Given the description of an element on the screen output the (x, y) to click on. 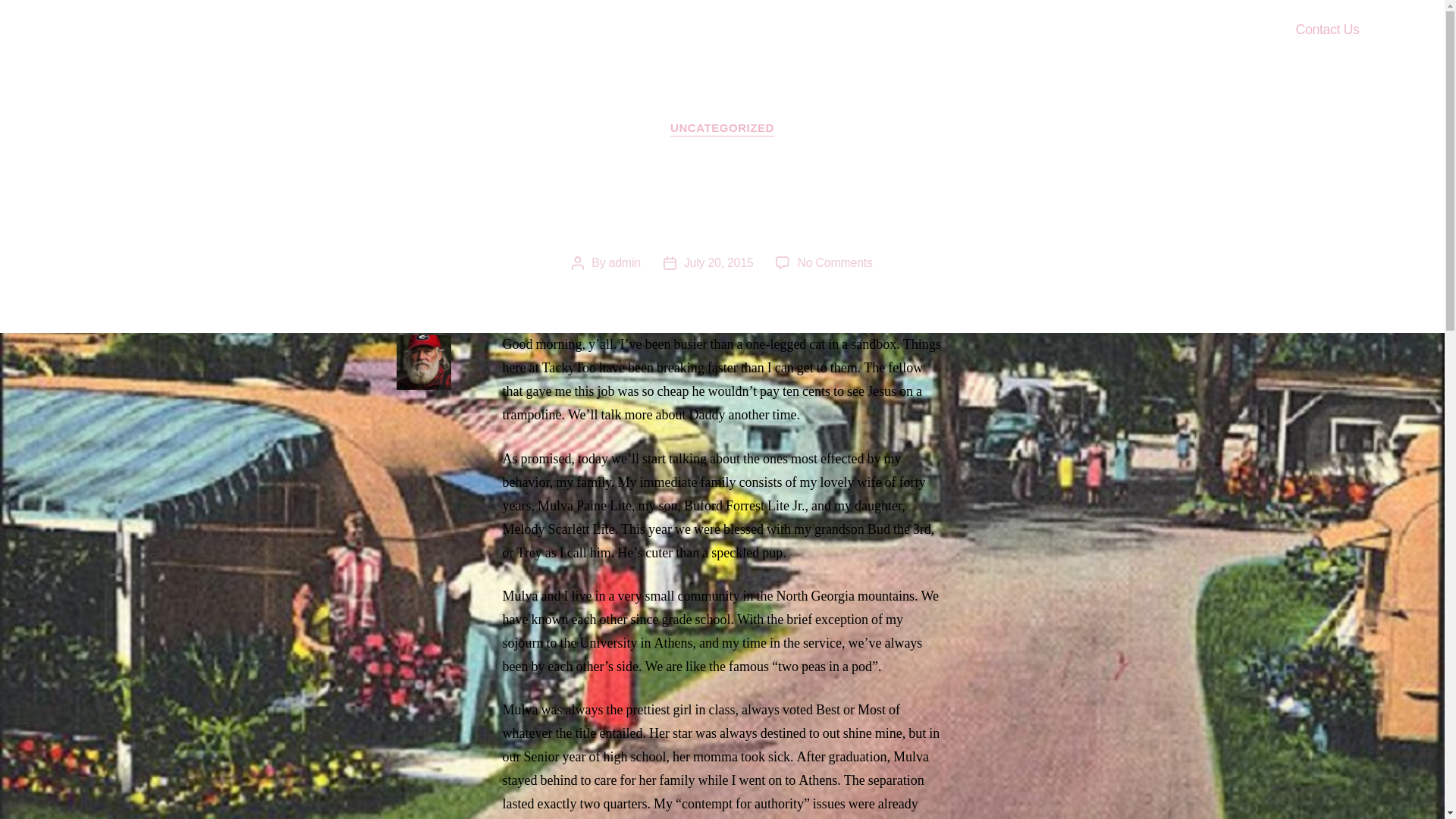
Tales From The Trailer Park (192, 30)
July 20, 2015 (719, 262)
Contact Us (1326, 30)
UNCATEGORIZED (721, 128)
admin (624, 262)
